Given the description of an element on the screen output the (x, y) to click on. 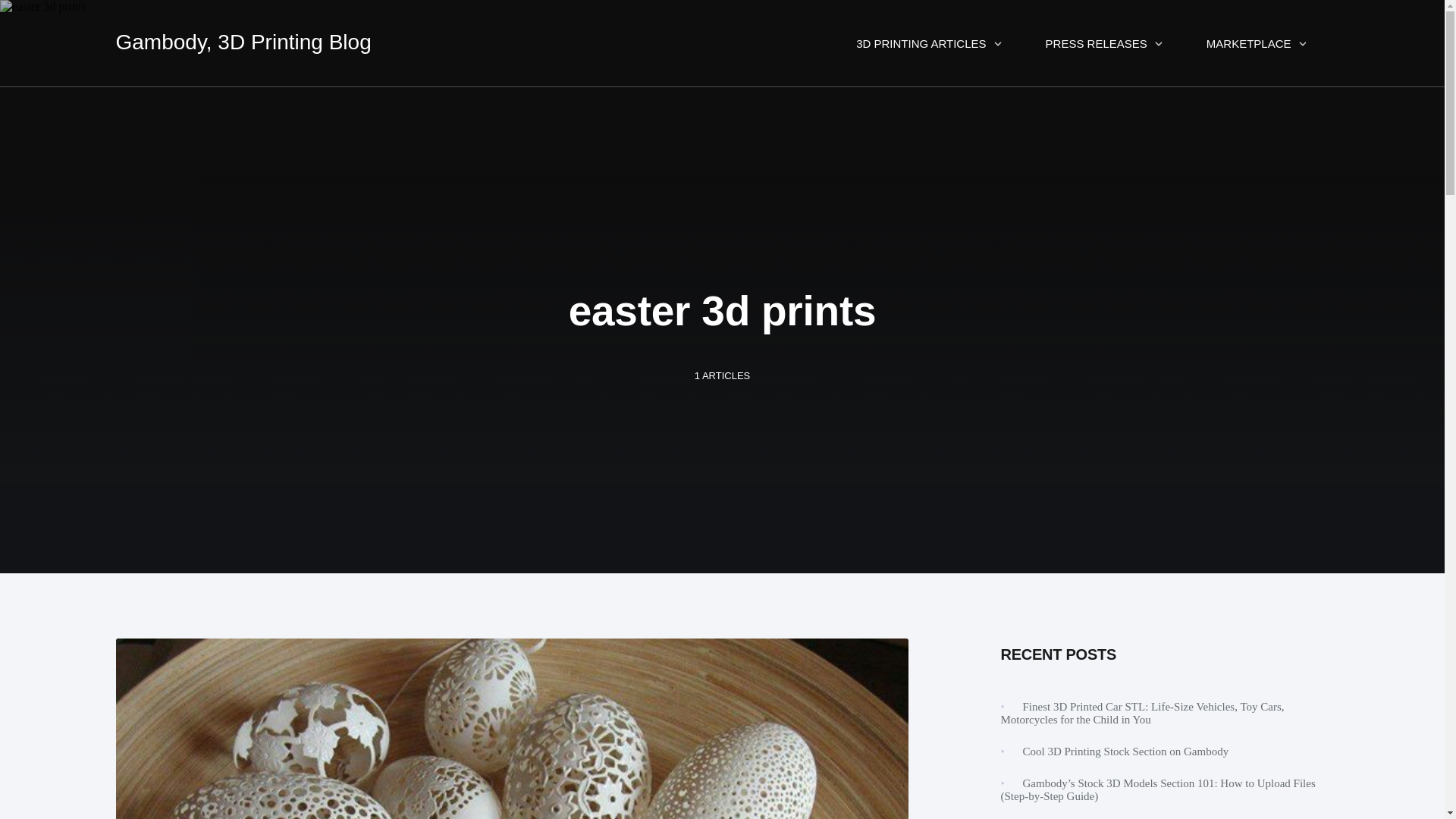
PRESS RELEASES (1105, 42)
MARKETPLACE (1257, 42)
3D PRINTING ARTICLES (928, 42)
Cool 3D Printing Stock Section on Gambody (1125, 751)
Gambody, 3D Printing Blog (243, 42)
3D Printing Articles (928, 42)
